Given the description of an element on the screen output the (x, y) to click on. 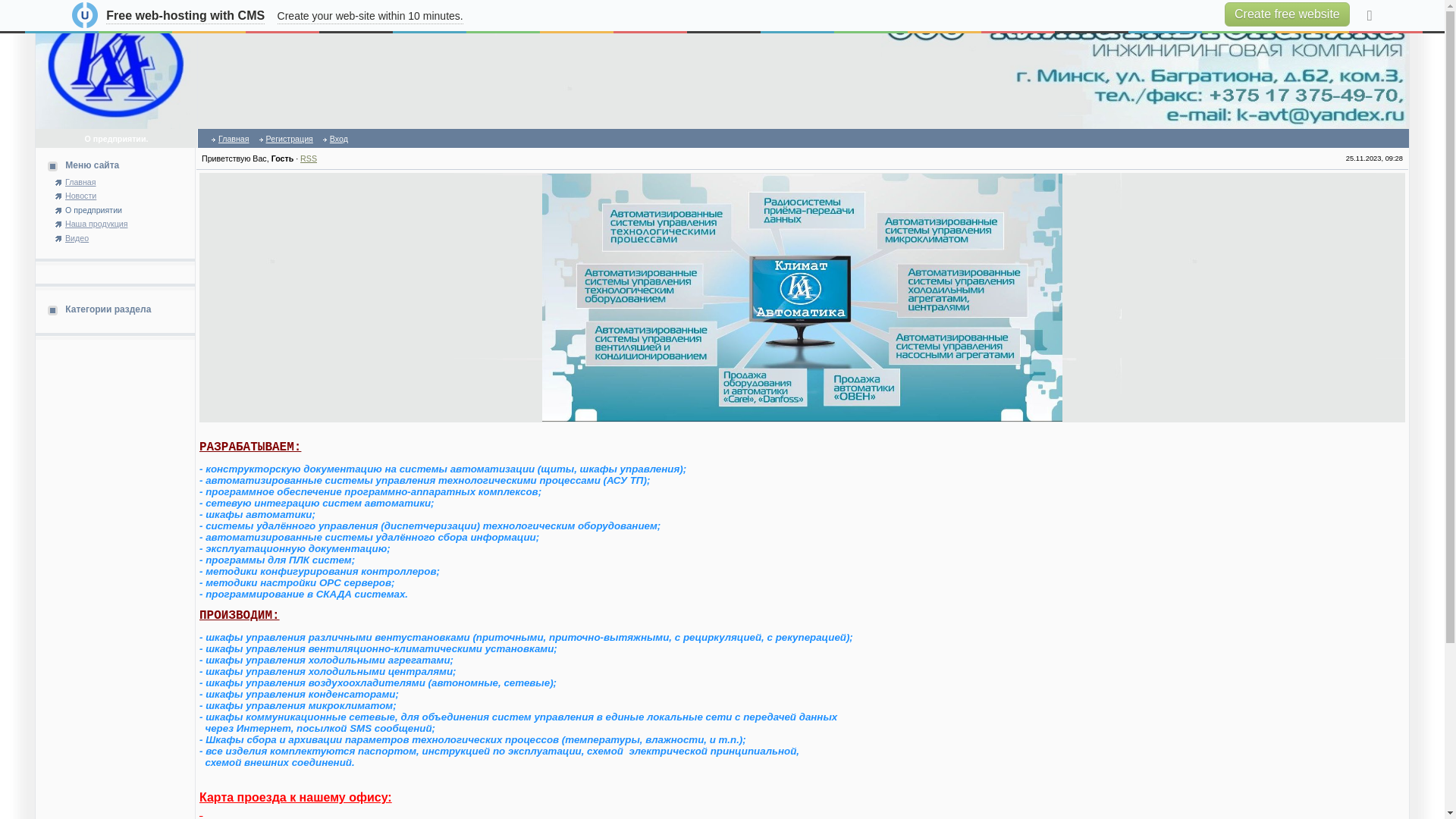
RSS Element type: text (308, 158)
